Given the description of an element on the screen output the (x, y) to click on. 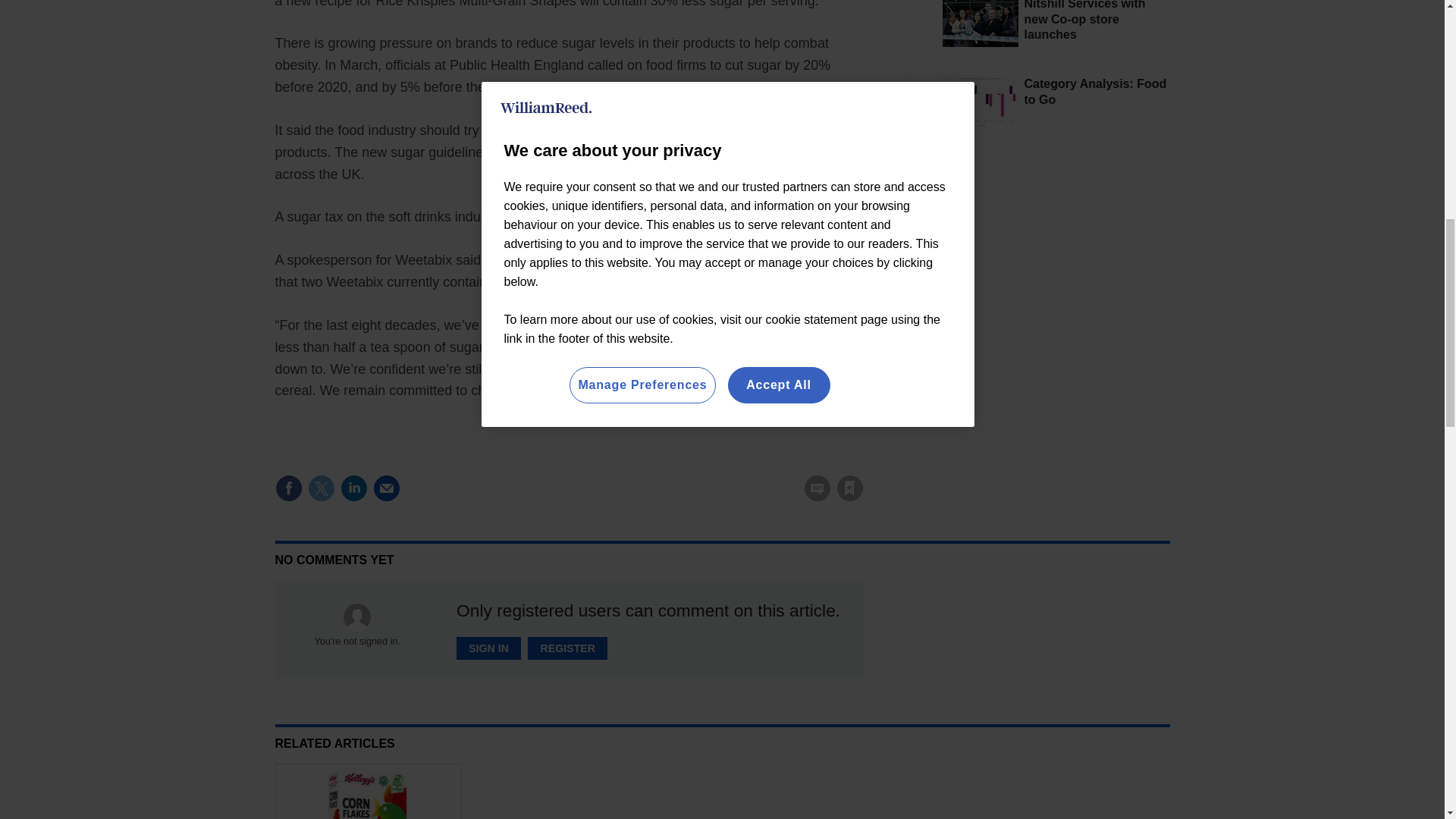
No comments (812, 497)
Share this on Facebook (288, 488)
Share this on Twitter (320, 488)
Email this article (386, 488)
Share this on Linked in (352, 488)
